Given the description of an element on the screen output the (x, y) to click on. 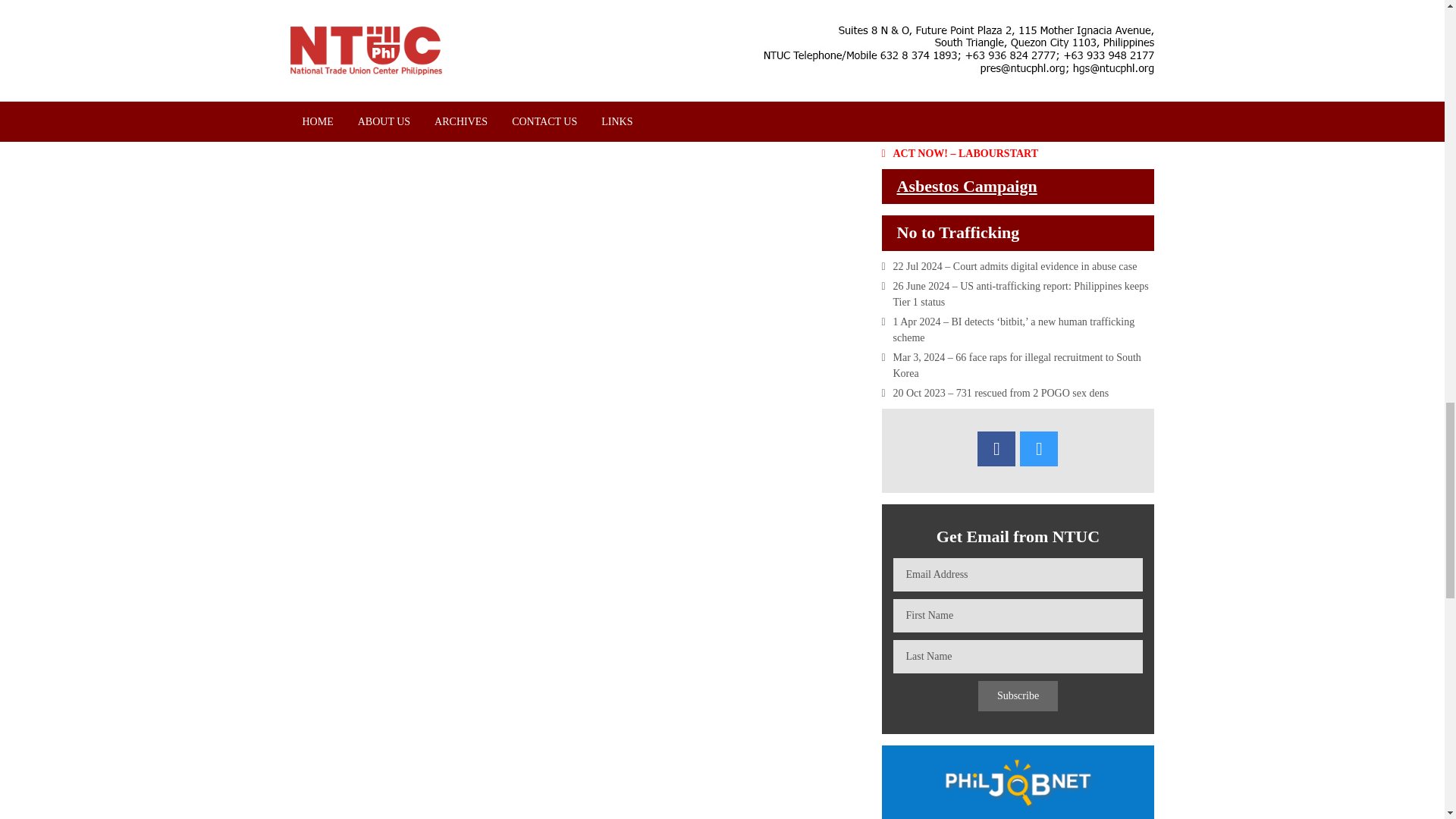
Asbestos Campaign (966, 185)
Subscribe (1018, 695)
